Given the description of an element on the screen output the (x, y) to click on. 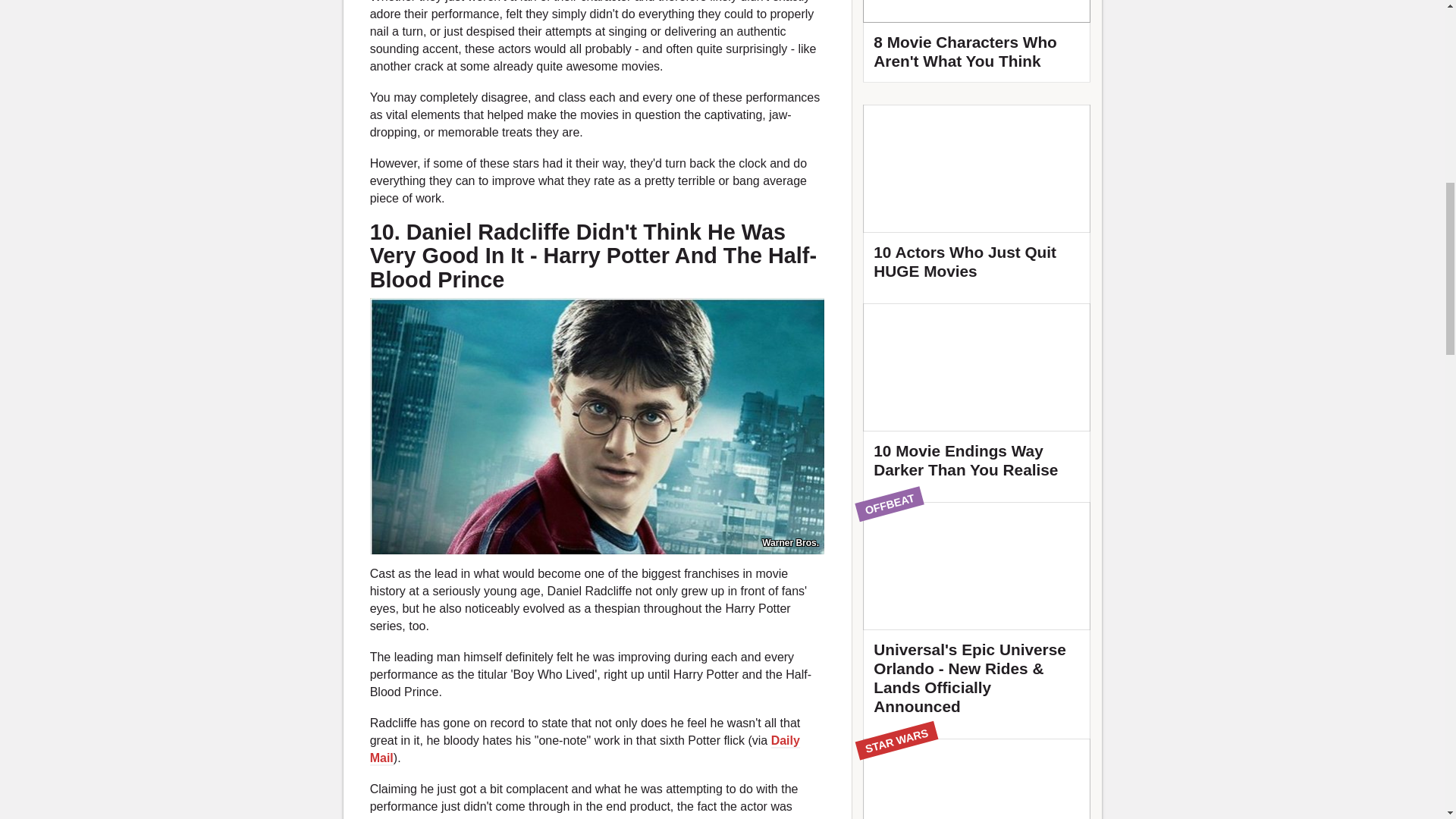
10 Huge Star Wars Moments That Happened In The Background (976, 778)
Featured Video (976, 41)
10 Movie Endings Way Darker Than You Realise (976, 397)
10 Actors Who Just Quit HUGE Movies (976, 198)
